Given the description of an element on the screen output the (x, y) to click on. 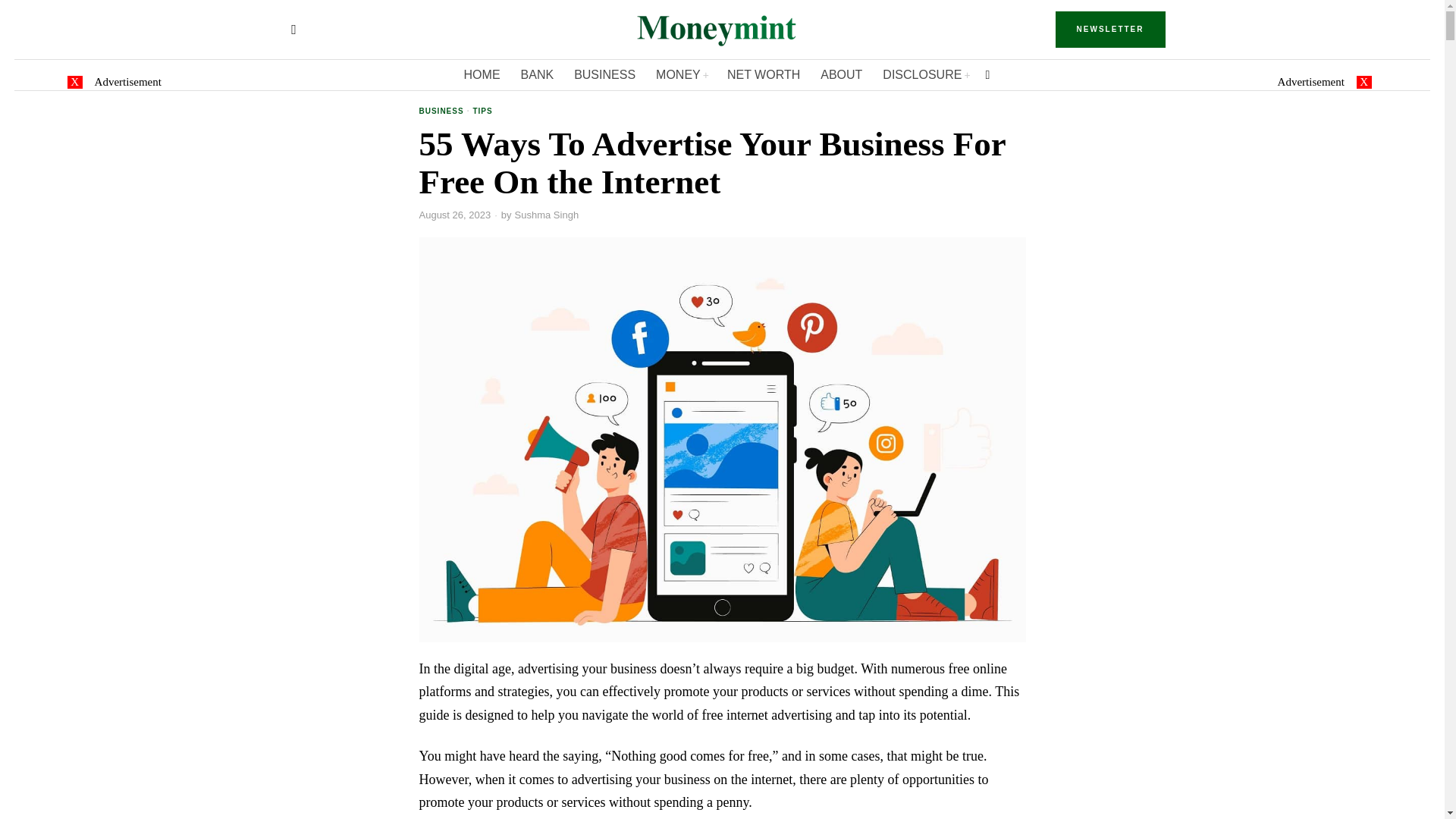
NET WORTH (763, 74)
BANK (539, 74)
MONEY (681, 74)
Sushma Singh (547, 214)
TIPS (481, 111)
DISCLOSURE (925, 74)
ABOUT (841, 74)
26 Aug, 2023 22:00:11 (454, 214)
BUSINESS (441, 111)
HOME (483, 74)
